Given the description of an element on the screen output the (x, y) to click on. 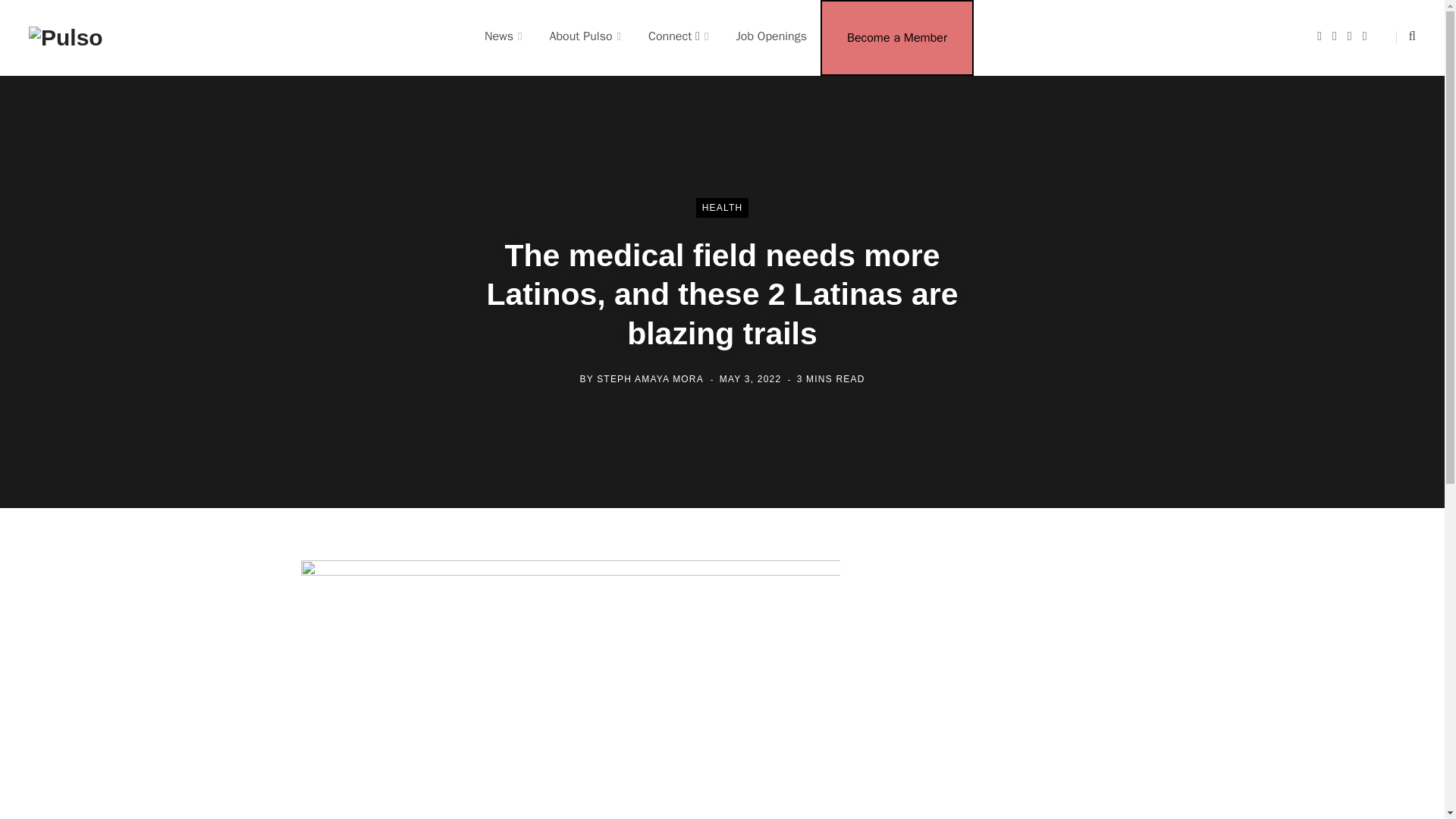
Become a Member (896, 37)
Pulso (66, 37)
STEPH AMAYA MORA (649, 378)
Job Openings (771, 36)
News (502, 36)
HEALTH (722, 207)
Posts by Steph Amaya Mora (649, 378)
About Pulso (584, 36)
